Given the description of an element on the screen output the (x, y) to click on. 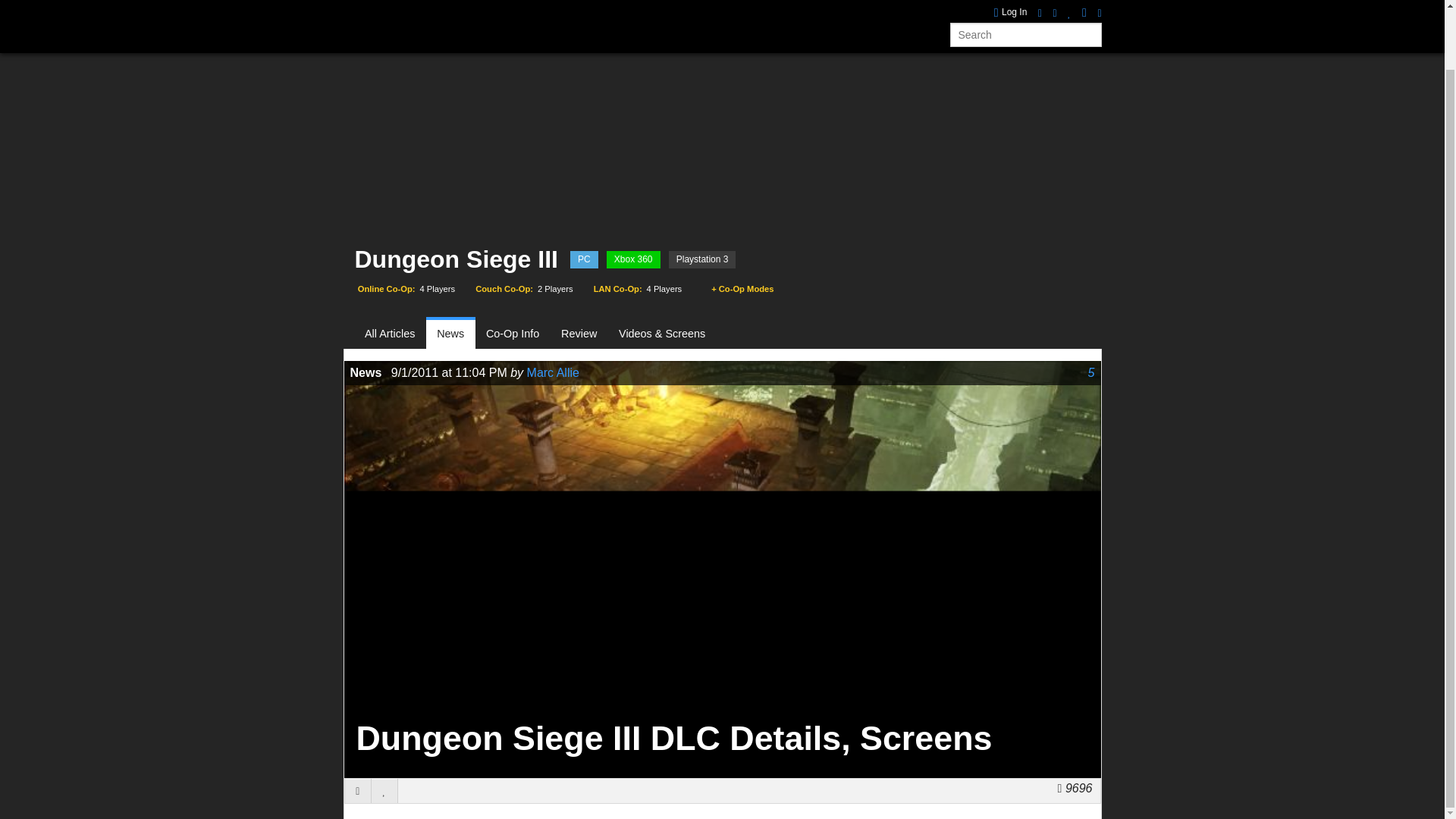
Weekly Video Streams and VODs from Co-Optimus (659, 5)
Videos (584, 5)
Review (579, 334)
Co-Op Info (513, 334)
Stream Recaps (659, 5)
Playstation 3 (702, 259)
PC (584, 259)
Co-Op Games (401, 5)
All Articles (395, 334)
Reviews (526, 5)
